Given the description of an element on the screen output the (x, y) to click on. 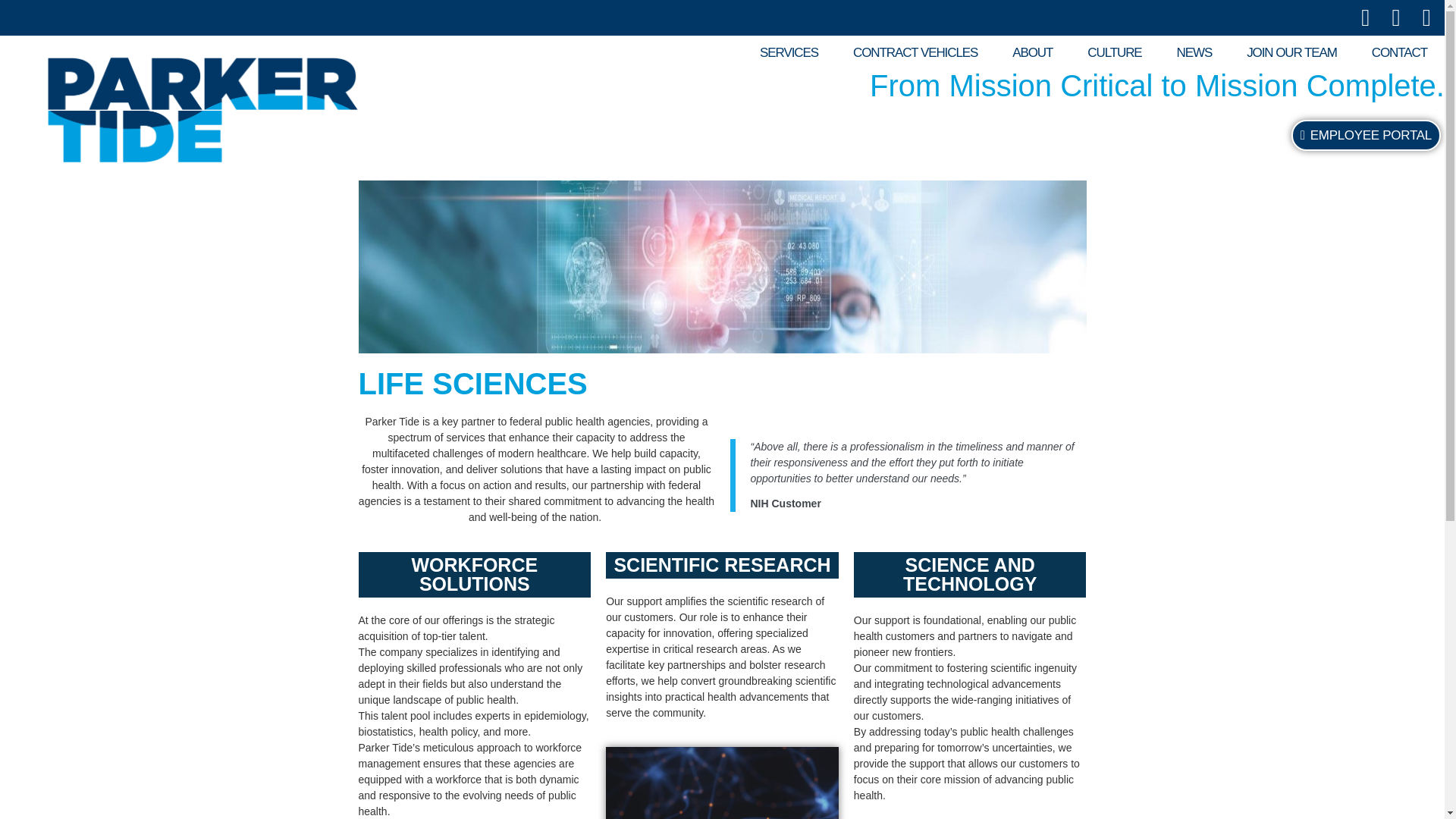
ABOUT (1032, 53)
CONTRACT VEHICLES (914, 53)
NEWS (1194, 53)
CULTURE (1114, 53)
JOIN OUR TEAM (1291, 53)
SERVICES (788, 53)
